Given the description of an element on the screen output the (x, y) to click on. 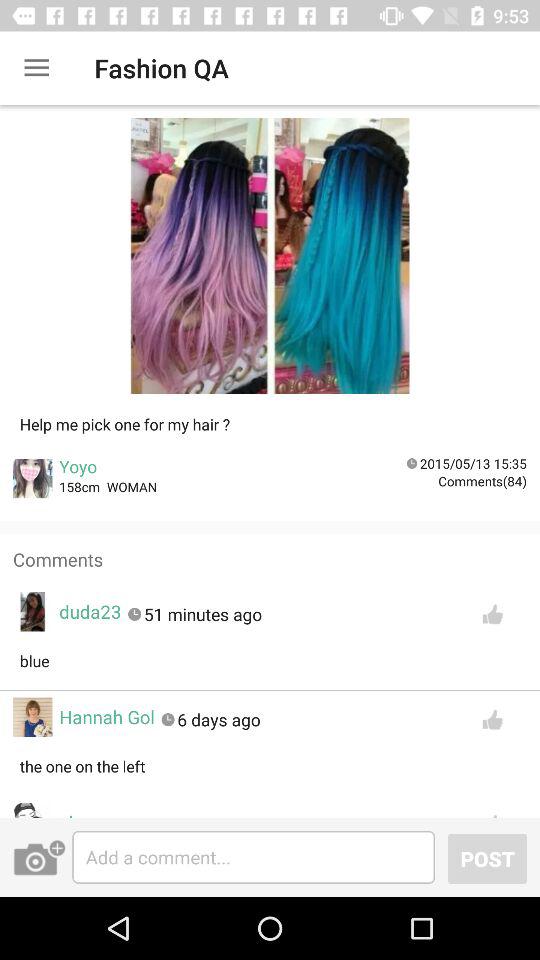
click like option (492, 614)
